Given the description of an element on the screen output the (x, y) to click on. 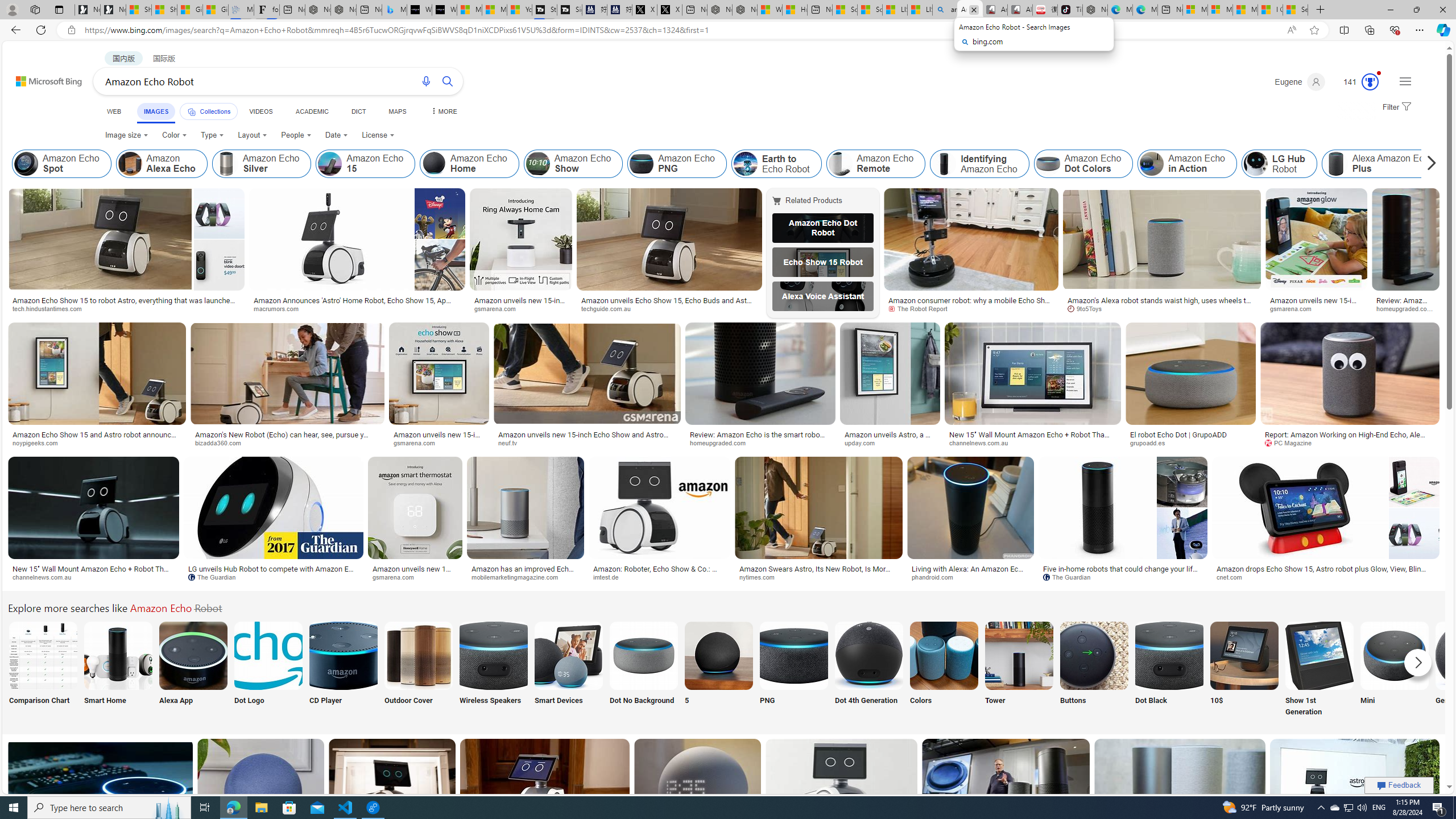
What's the best AI voice generator? - voice.ai (443, 9)
Amazon Echo Comparison Chart Comparison Chart (42, 669)
Huge shark washes ashore at New York City beach | Watch (794, 9)
Alexa Amazon Echo Plus (1383, 163)
License (378, 135)
Feedback (1399, 785)
Amazon Echo Dot Colors (1082, 163)
Type (212, 135)
MAPS (397, 111)
